Given the description of an element on the screen output the (x, y) to click on. 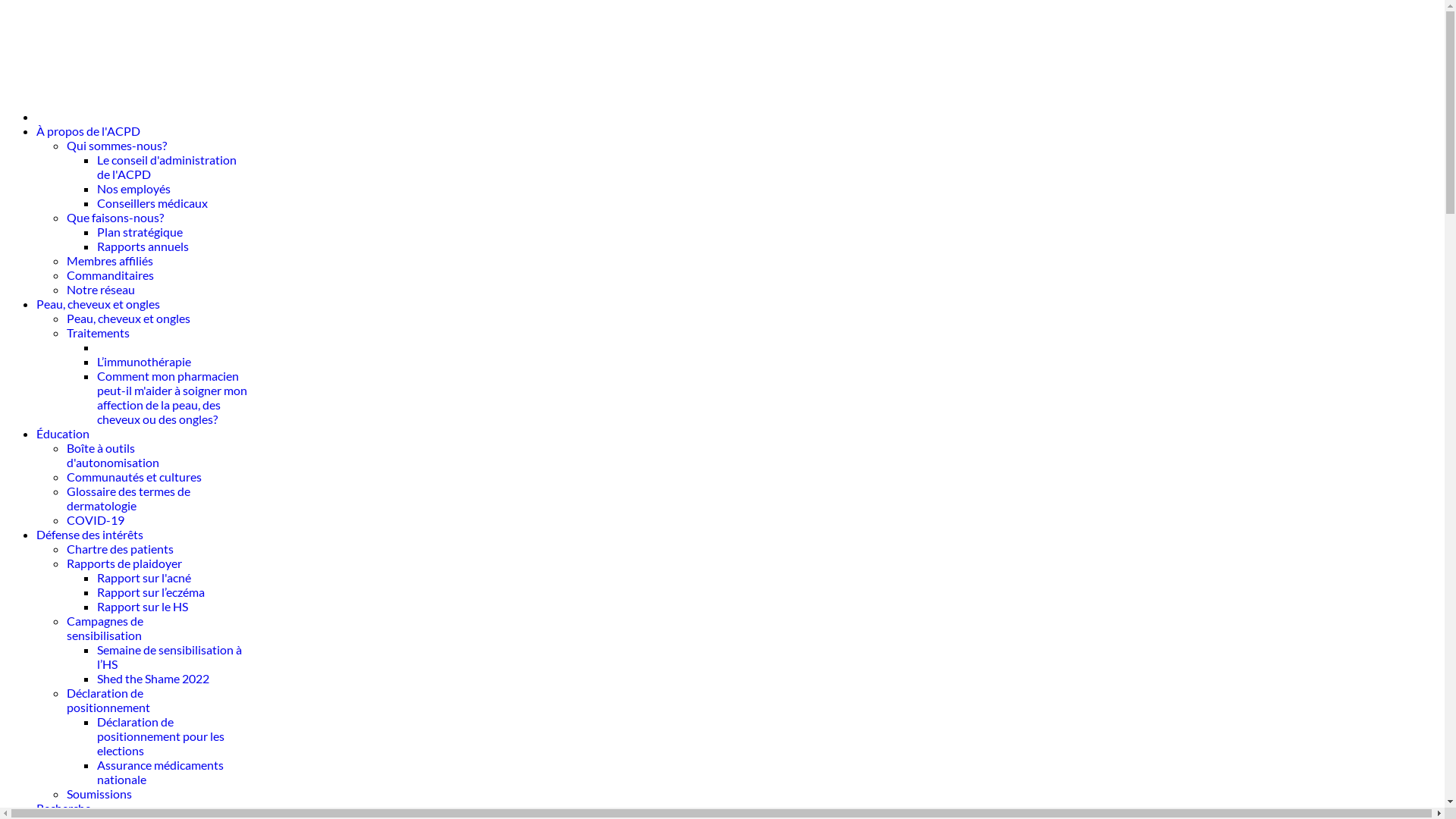
Commanditaires Element type: text (109, 274)
Shed the Shame 2022 Element type: text (153, 678)
Campagnes de sensibilisation Element type: text (104, 627)
Rapports annuels Element type: text (142, 245)
Peau, cheveux et ongles Element type: text (98, 303)
Traitements Element type: text (97, 332)
Peau, cheveux et ongles Element type: text (128, 317)
Rapports de plaidoyer Element type: text (124, 562)
Recherche Element type: text (63, 807)
Glossaire des termes de dermatologie Element type: text (128, 497)
COVID-19 Element type: text (95, 519)
Le conseil d'administration de l'ACPD Element type: text (166, 166)
Que faisons-nous? Element type: text (114, 217)
Rapport sur le HS Element type: text (142, 606)
Soumissions Element type: text (98, 793)
Chartre des patients Element type: text (119, 548)
Qui sommes-nous? Element type: text (116, 145)
